Given the description of an element on the screen output the (x, y) to click on. 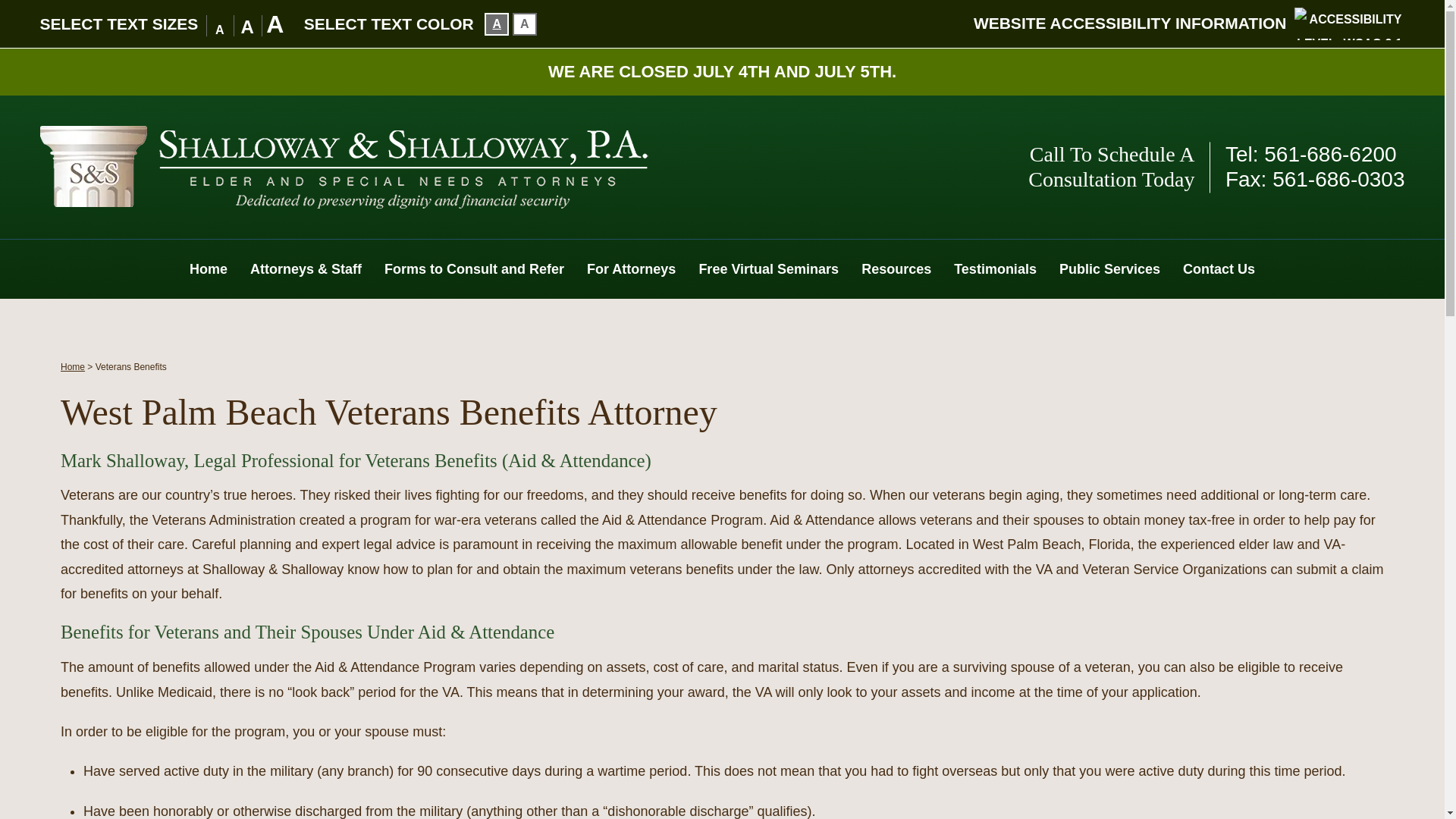
561-686-6200 (1329, 153)
For Attorneys (631, 268)
Free Virtual Seminars (768, 268)
WEBSITE ACCESSIBILITY INFORMATION (1130, 23)
Invert Colors (496, 24)
Forms to Consult and Refer (473, 268)
Invert Colors (524, 24)
A (524, 24)
A (496, 24)
Click to view external accessibility article (1130, 23)
